Given the description of an element on the screen output the (x, y) to click on. 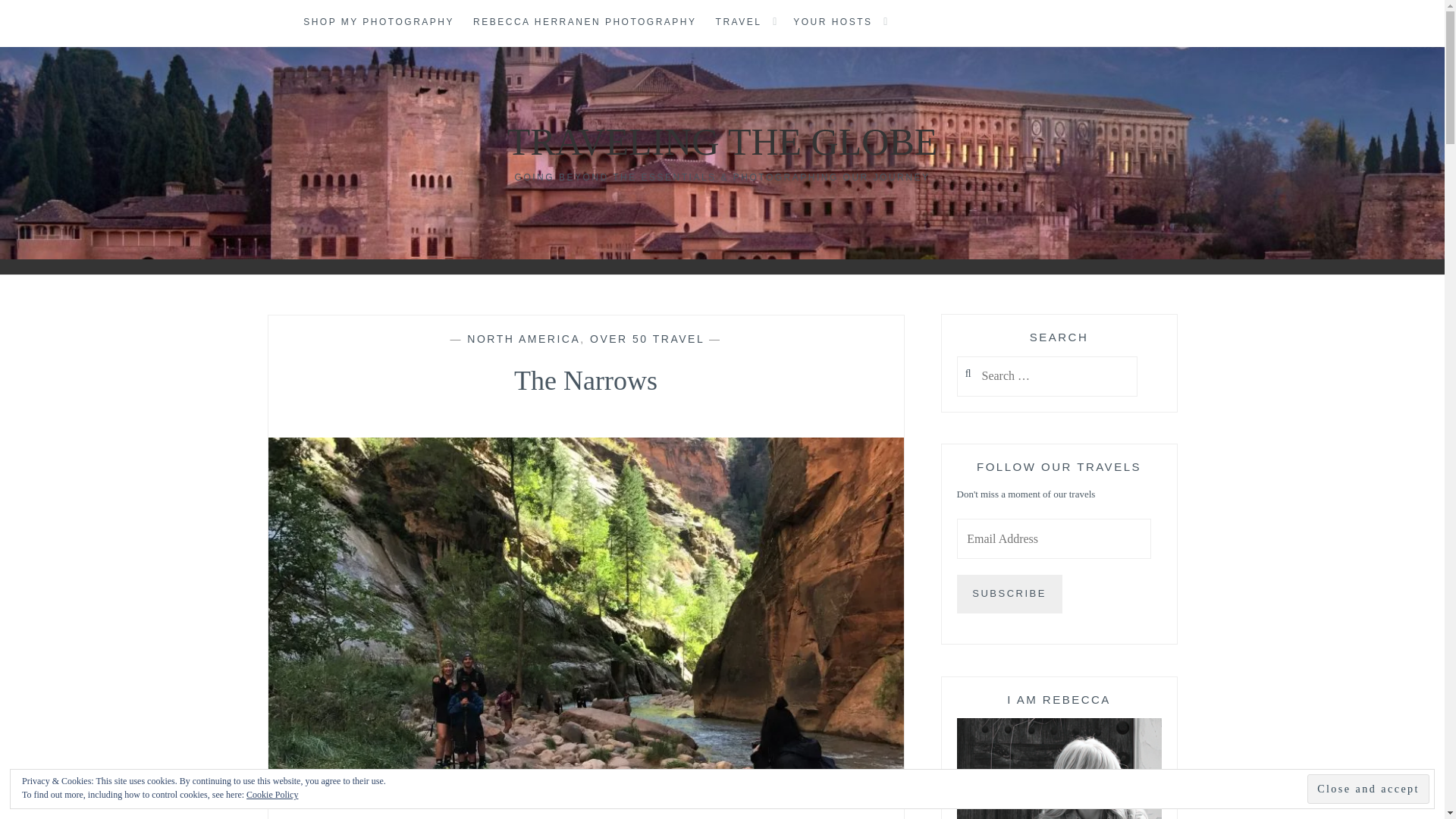
SHOP MY PHOTOGRAPHY (378, 22)
TRAVEL (738, 22)
TRAVELING THE GLOBE (721, 141)
OVER 50 TRAVEL (646, 338)
Close and accept (1368, 788)
NORTH AMERICA (523, 338)
REBECCA HERRANEN PHOTOGRAPHY (585, 22)
YOUR HOSTS (832, 22)
